Given the description of an element on the screen output the (x, y) to click on. 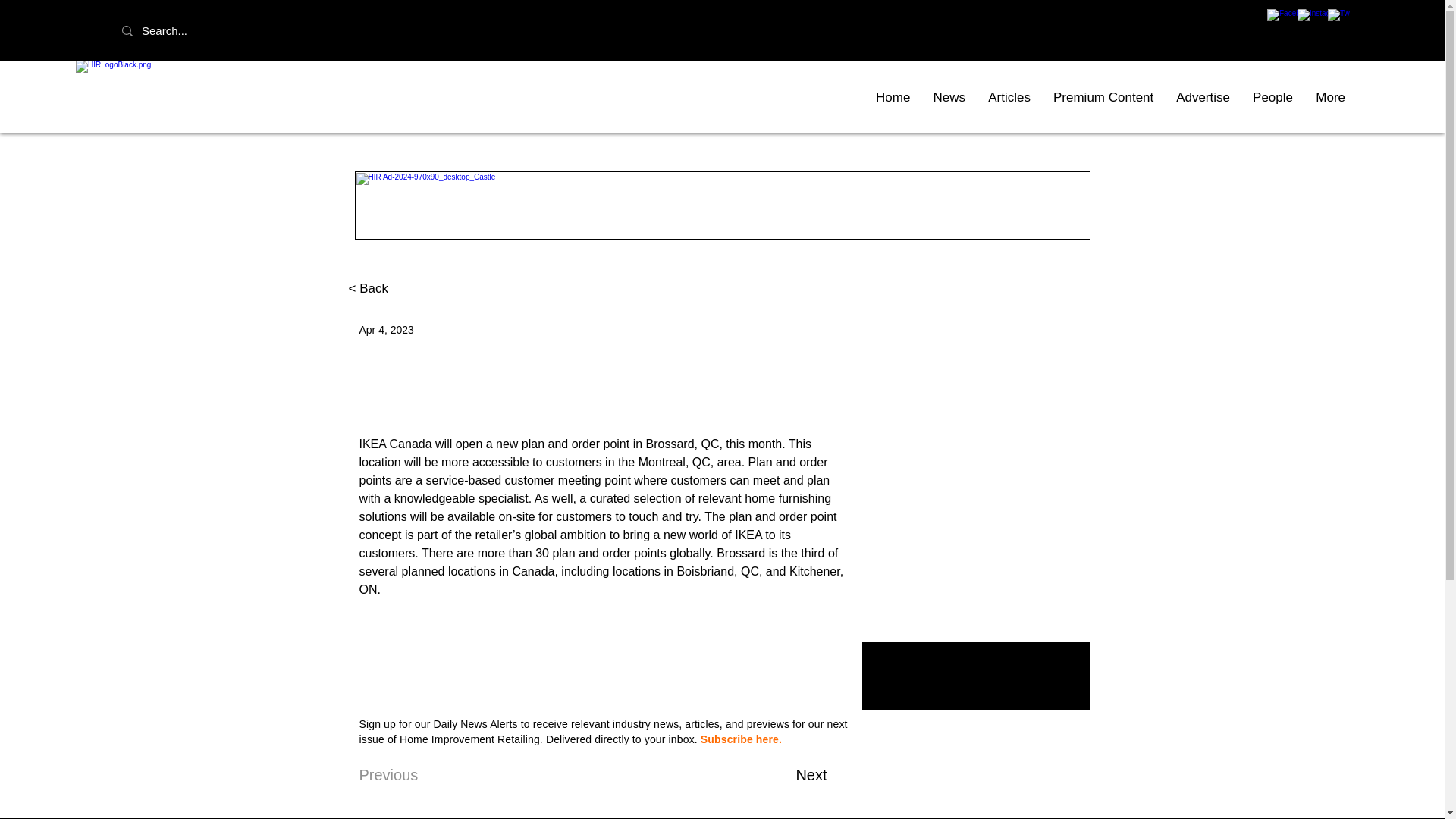
Articles (1009, 97)
News (948, 97)
Home (892, 97)
Subscribe here. (740, 739)
People (1272, 97)
Advertise (1202, 97)
Premium Content (1103, 97)
Previous (409, 775)
Next (789, 775)
